Given the description of an element on the screen output the (x, y) to click on. 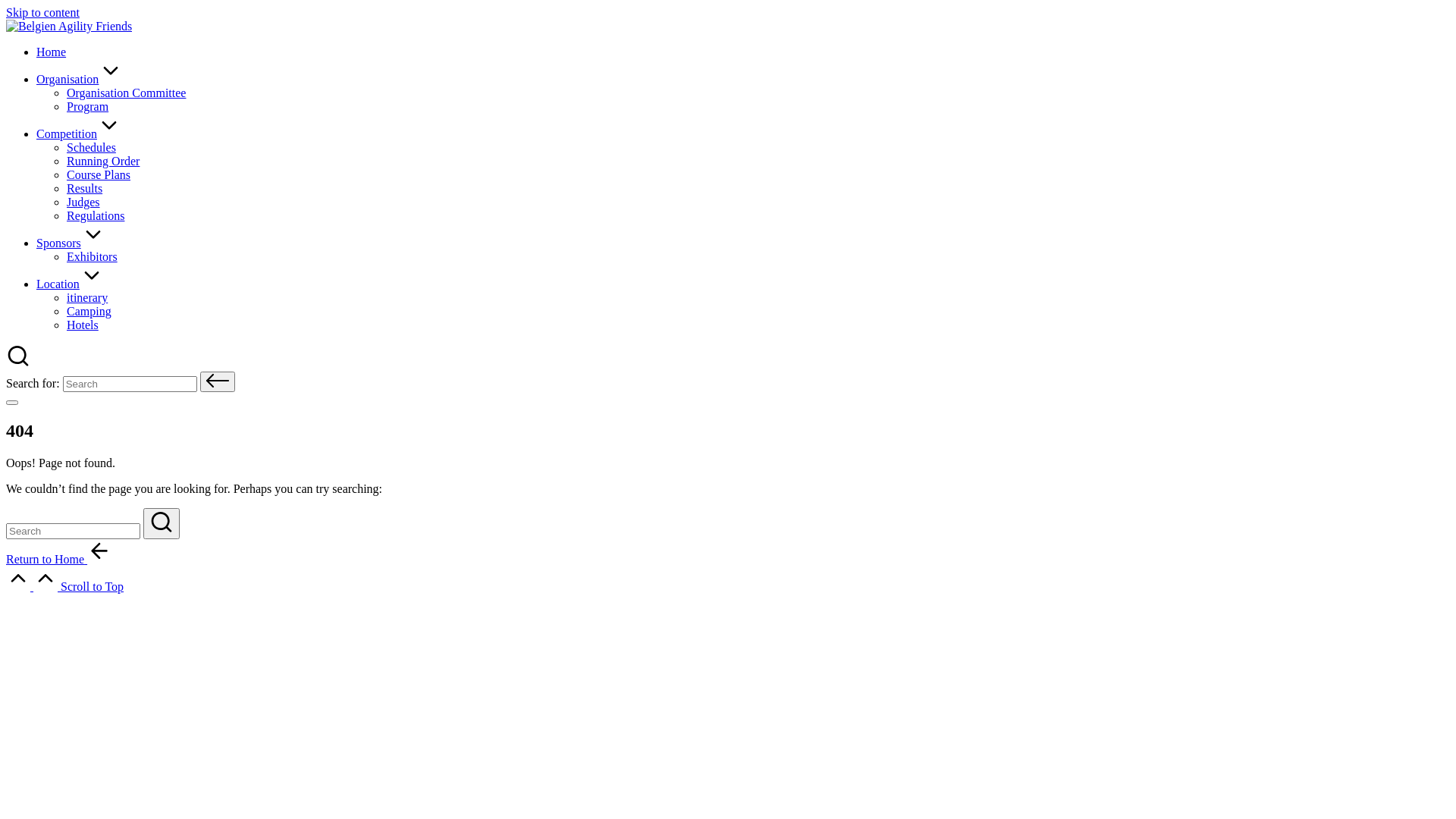
Course Plans Element type: text (98, 174)
Regulations Element type: text (95, 215)
Camping Element type: text (88, 310)
Organisation Committee Element type: text (125, 92)
Exhibitors Element type: text (91, 256)
Scroll to Top Element type: text (64, 586)
Judges Element type: text (83, 201)
itinerary Element type: text (86, 297)
Competition Element type: text (78, 133)
Running Order Element type: text (102, 160)
Return to Home Element type: text (58, 558)
Results Element type: text (84, 188)
Schedules Element type: text (91, 147)
Location Element type: text (69, 283)
Skip to content Element type: text (42, 12)
Program Element type: text (87, 106)
Hotels Element type: text (82, 324)
Home Element type: text (50, 51)
Sponsors Element type: text (70, 242)
Organisation Element type: text (79, 78)
